Given the description of an element on the screen output the (x, y) to click on. 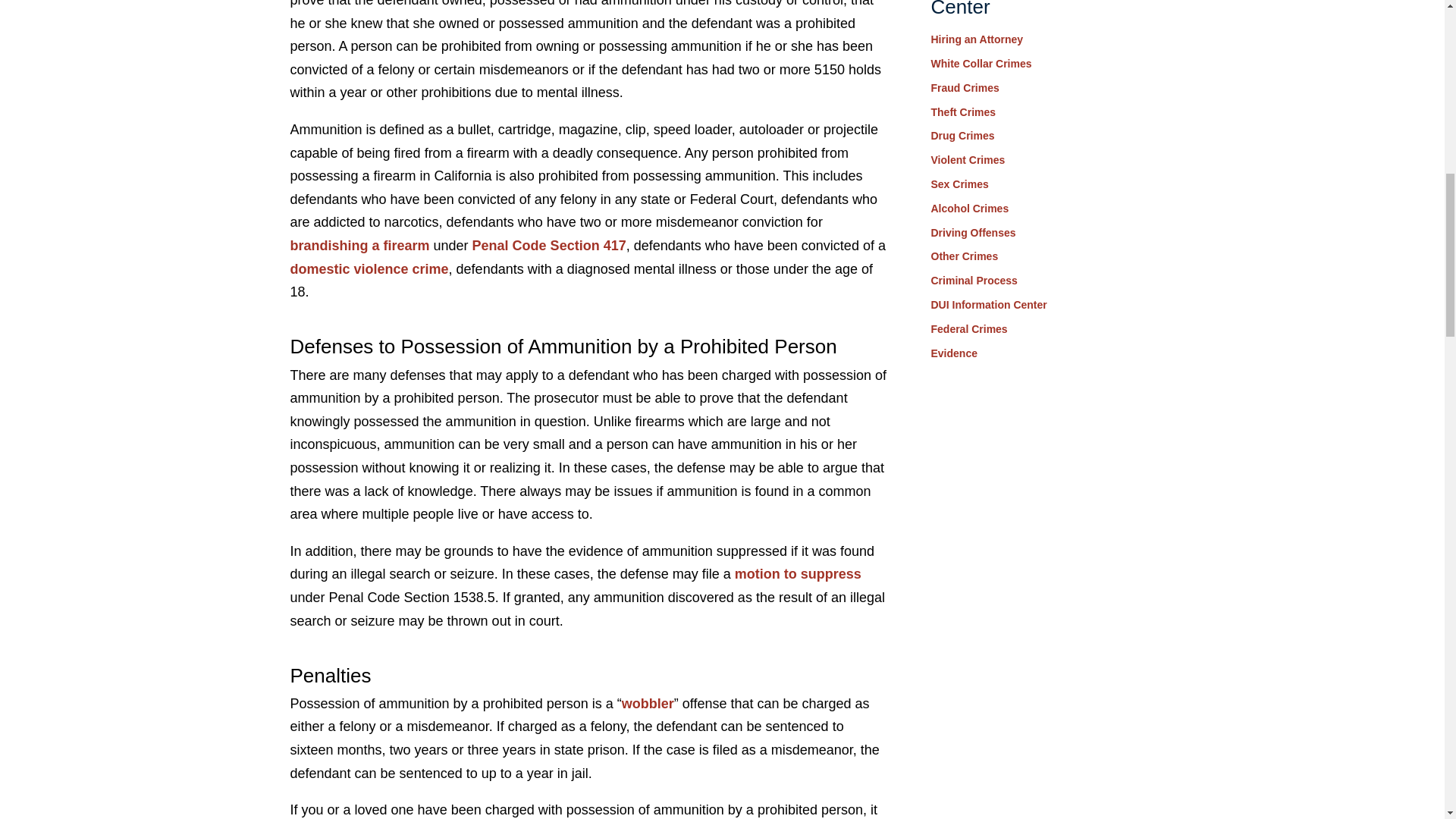
domestic violence crime (368, 268)
motion to suppress (798, 573)
wobbler (647, 703)
brandishing a firearm (359, 245)
Penal Code Section 417 (548, 245)
